Given the description of an element on the screen output the (x, y) to click on. 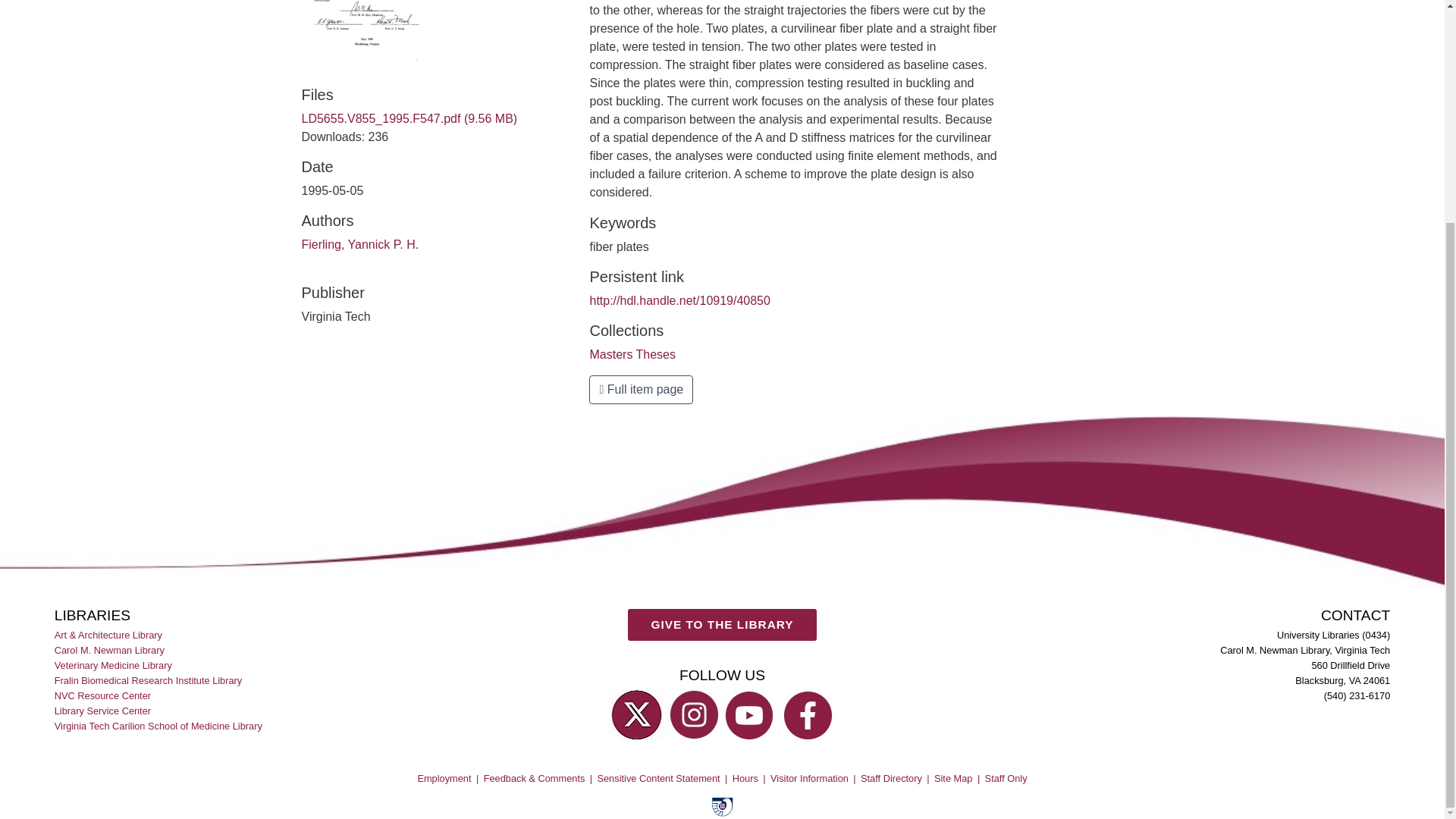
Carol M. Newman Library (111, 649)
NVC Resource Center (103, 694)
Fralin Biomedical Research Institute Library (149, 679)
Full item page (641, 389)
Library Service Center (103, 711)
Masters Theses (632, 354)
Virginia Tech Carilion School of Medicine Library (159, 726)
GIVE TO THE LIBRARY (722, 635)
Veterinary Medicine Library (114, 664)
Fierling, Yannick P. H. (360, 244)
